Given the description of an element on the screen output the (x, y) to click on. 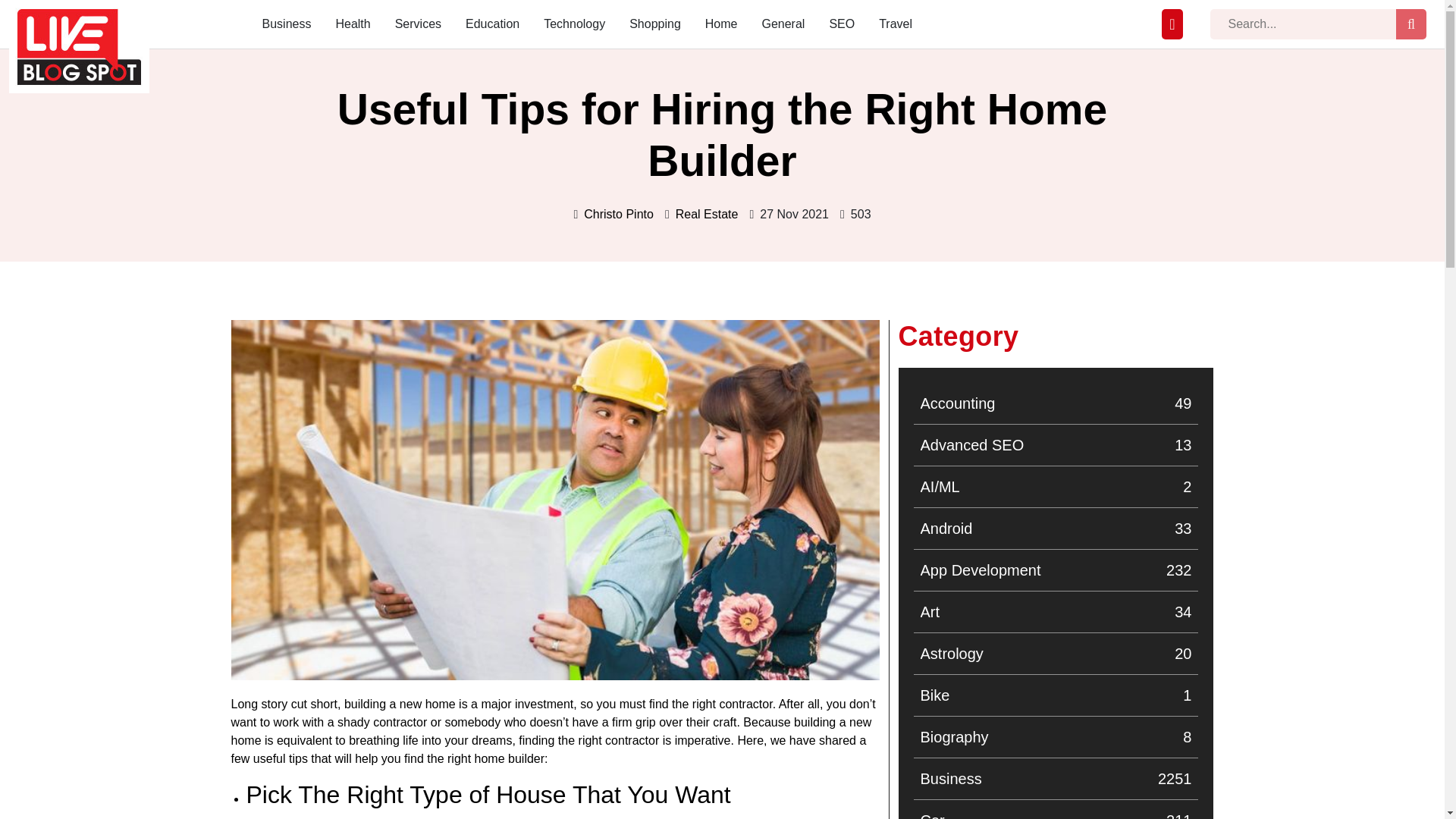
Real Estate (1056, 569)
Business (706, 214)
Services (286, 24)
Shopping (1056, 403)
Posts by Christo Pinto (417, 24)
